Given the description of an element on the screen output the (x, y) to click on. 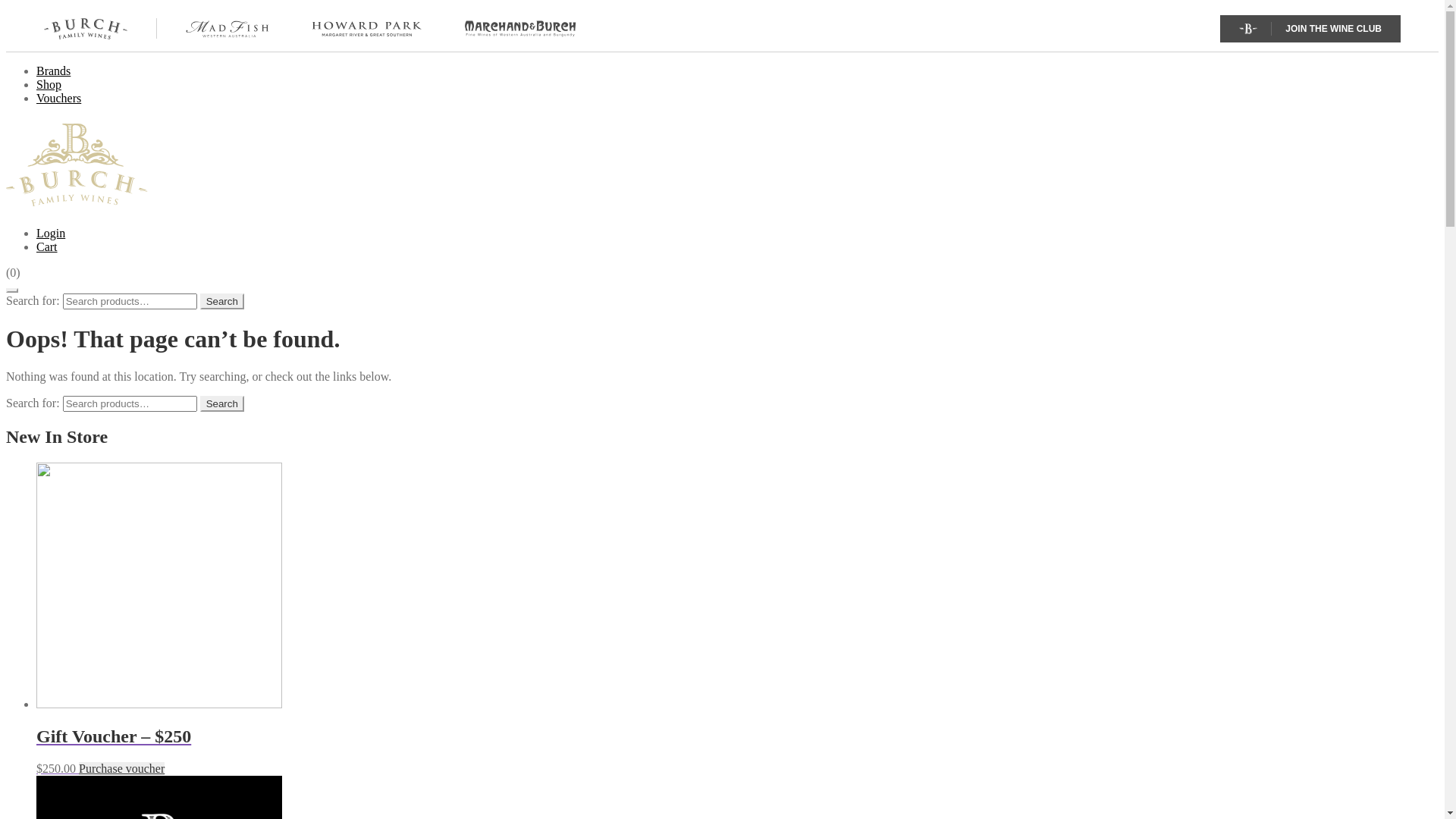
Search Element type: text (222, 301)
Shop Element type: text (48, 84)
Brands Element type: text (53, 70)
Search Element type: text (222, 403)
Purchase voucher Element type: text (121, 767)
Vouchers Element type: text (58, 97)
Login Element type: text (50, 232)
Cart Element type: text (46, 246)
